Given the description of an element on the screen output the (x, y) to click on. 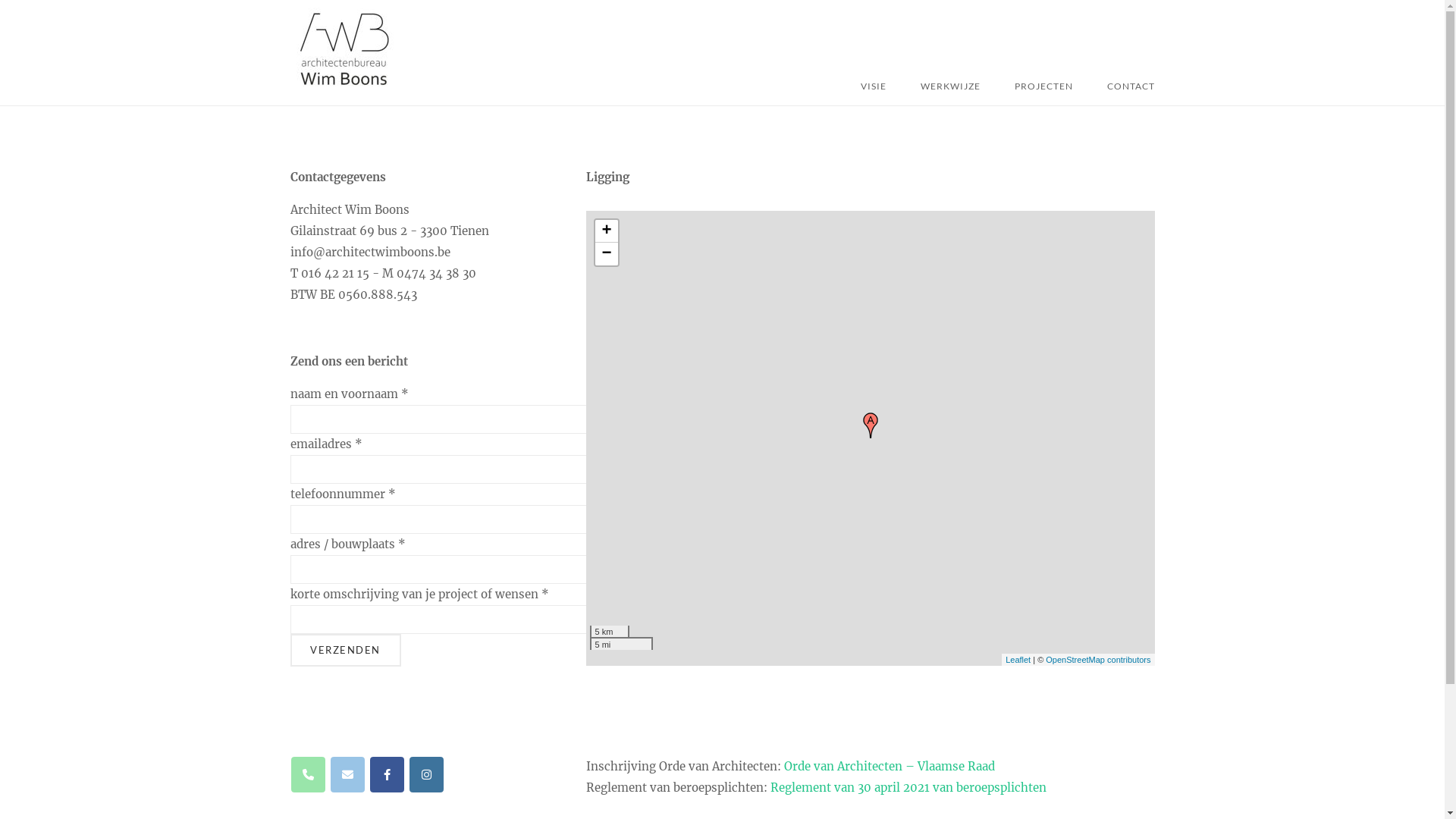
Architect Wim Boons op Facebook Element type: hover (387, 774)
PROJECTEN Element type: text (1042, 86)
+ Element type: text (605, 230)
Phone Architect Wim Boons Element type: hover (308, 774)
Architect Wim Boons op Envelope Element type: hover (347, 774)
verzenden Element type: text (344, 649)
CONTACT Element type: text (1130, 86)
Architect Wim Boons op Instagram Element type: hover (426, 774)
Reglement van 30 april 2021 van beroepsplichten Element type: text (908, 787)
Home Element type: text (342, 86)
WERKWIJZE Element type: text (949, 86)
OpenStreetMap contributors Element type: text (1097, 659)
VISIE Element type: text (873, 86)
Leaflet Element type: text (1017, 659)
